Given the description of an element on the screen output the (x, y) to click on. 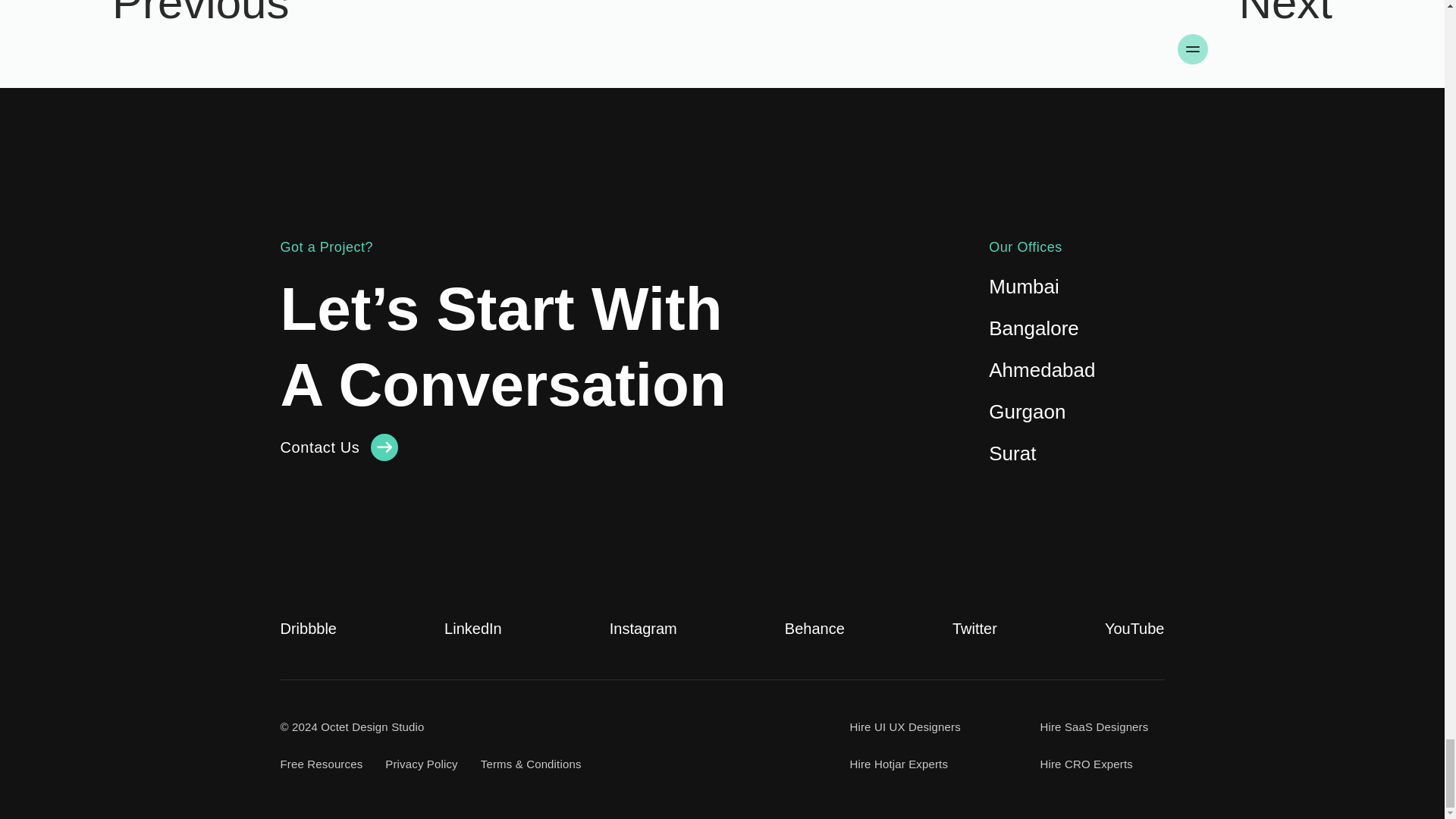
Free Resources (321, 763)
Bangalore (1033, 327)
Gurgaon (1026, 411)
Privacy Policy (421, 763)
Dribbble (308, 628)
Contact Us (339, 447)
Contact Us (339, 447)
Gurgaon (1026, 411)
Previous (361, 43)
Mumbai (1023, 286)
LinkedIn (473, 628)
Bangalore (1033, 327)
Ahmedabad (1041, 369)
LinkedIn (473, 628)
Surat (1011, 453)
